Given the description of an element on the screen output the (x, y) to click on. 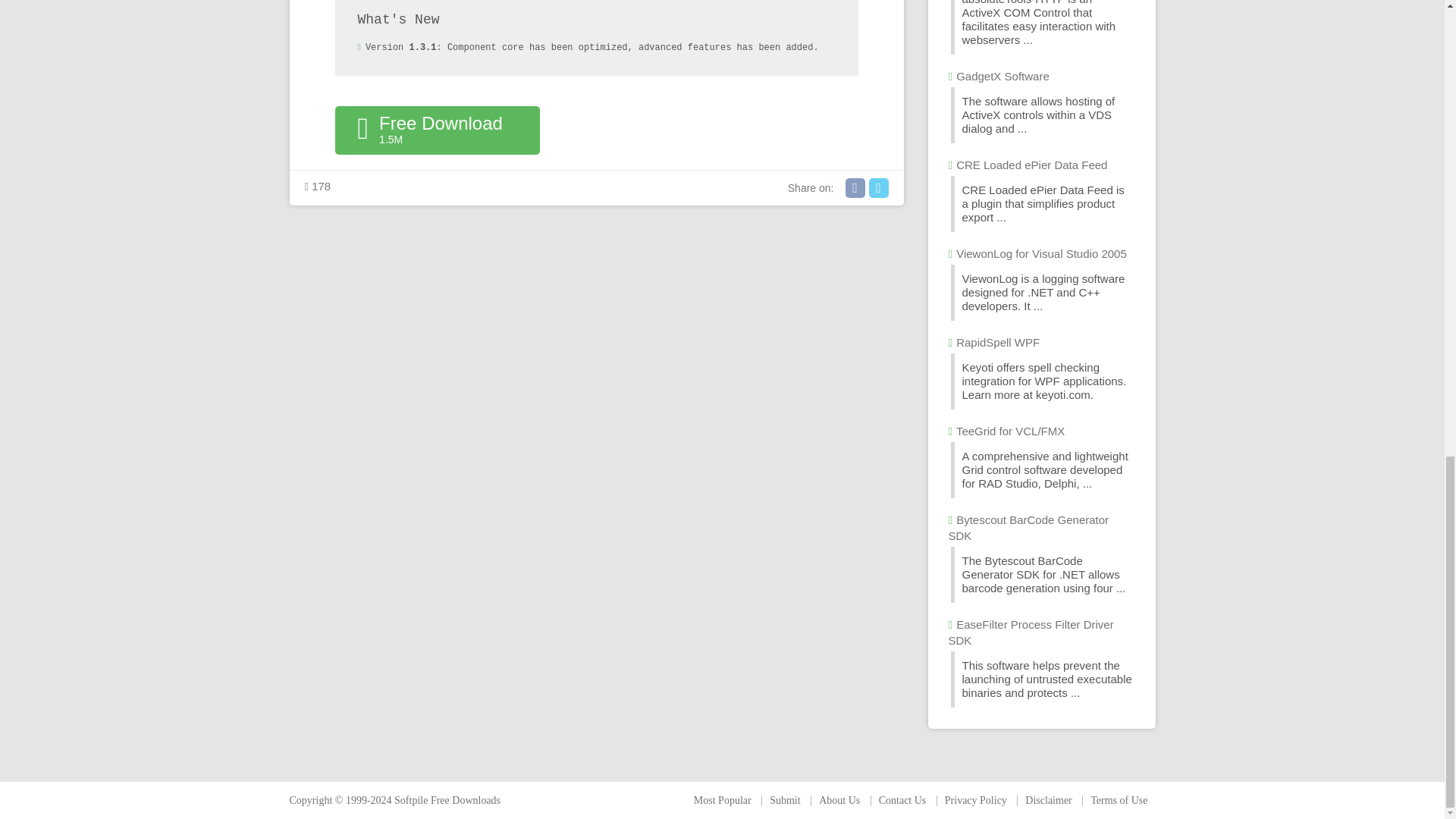
Download EAUpload Asp.Net 1.3.1 (437, 130)
